Given the description of an element on the screen output the (x, y) to click on. 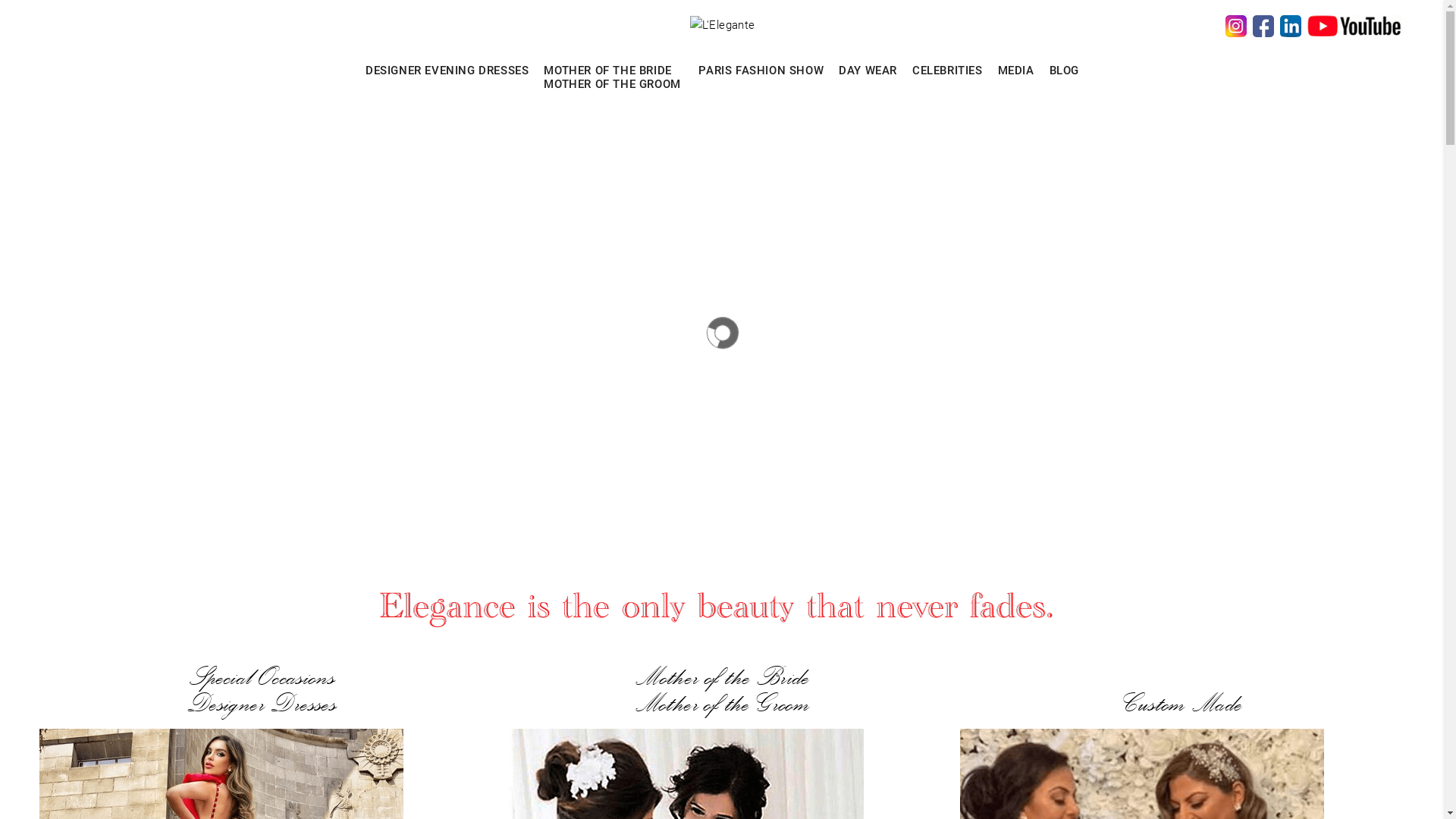
DAY WEAR Element type: text (867, 70)
DESIGNER EVENING DRESSES Element type: text (446, 70)
CELEBRITIES Element type: text (947, 70)
Facebook Element type: hover (1263, 24)
MEDIA Element type: text (1015, 70)
PARIS FASHION SHOW Element type: text (760, 70)
Linkedin Element type: hover (1290, 24)
Instagram Element type: hover (1235, 24)
BLOG Element type: text (1064, 70)
MOTHER OF THE BRIDE MOTHER OF THE GROOM Element type: text (613, 68)
Youtube Element type: hover (1354, 24)
